Given the description of an element on the screen output the (x, y) to click on. 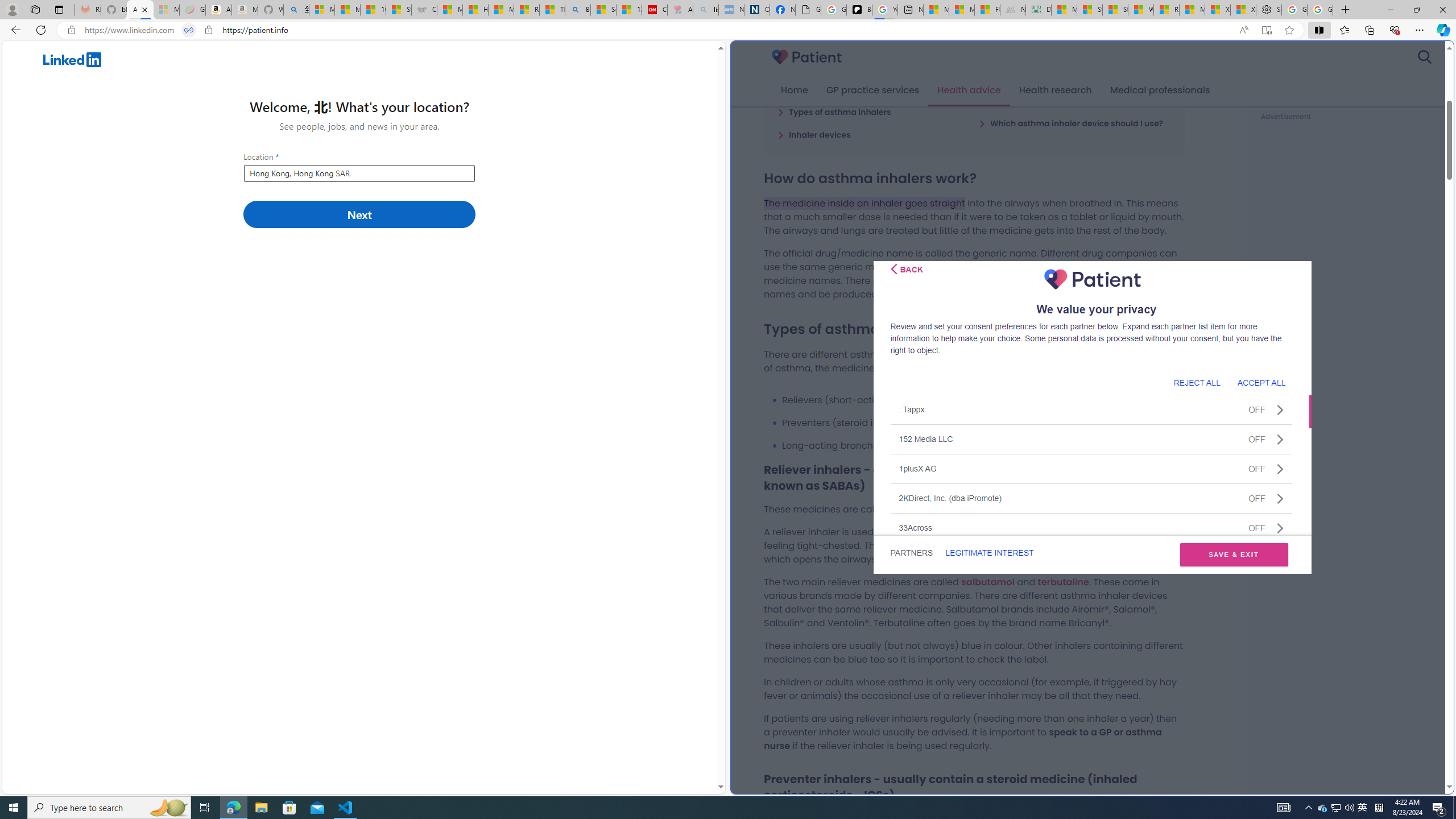
FOX News - MSN (986, 9)
Health advice (969, 90)
Class: css-i5klq5 (892, 268)
How I Got Rid of Microsoft Edge's Unnecessary Features (475, 9)
